Given the description of an element on the screen output the (x, y) to click on. 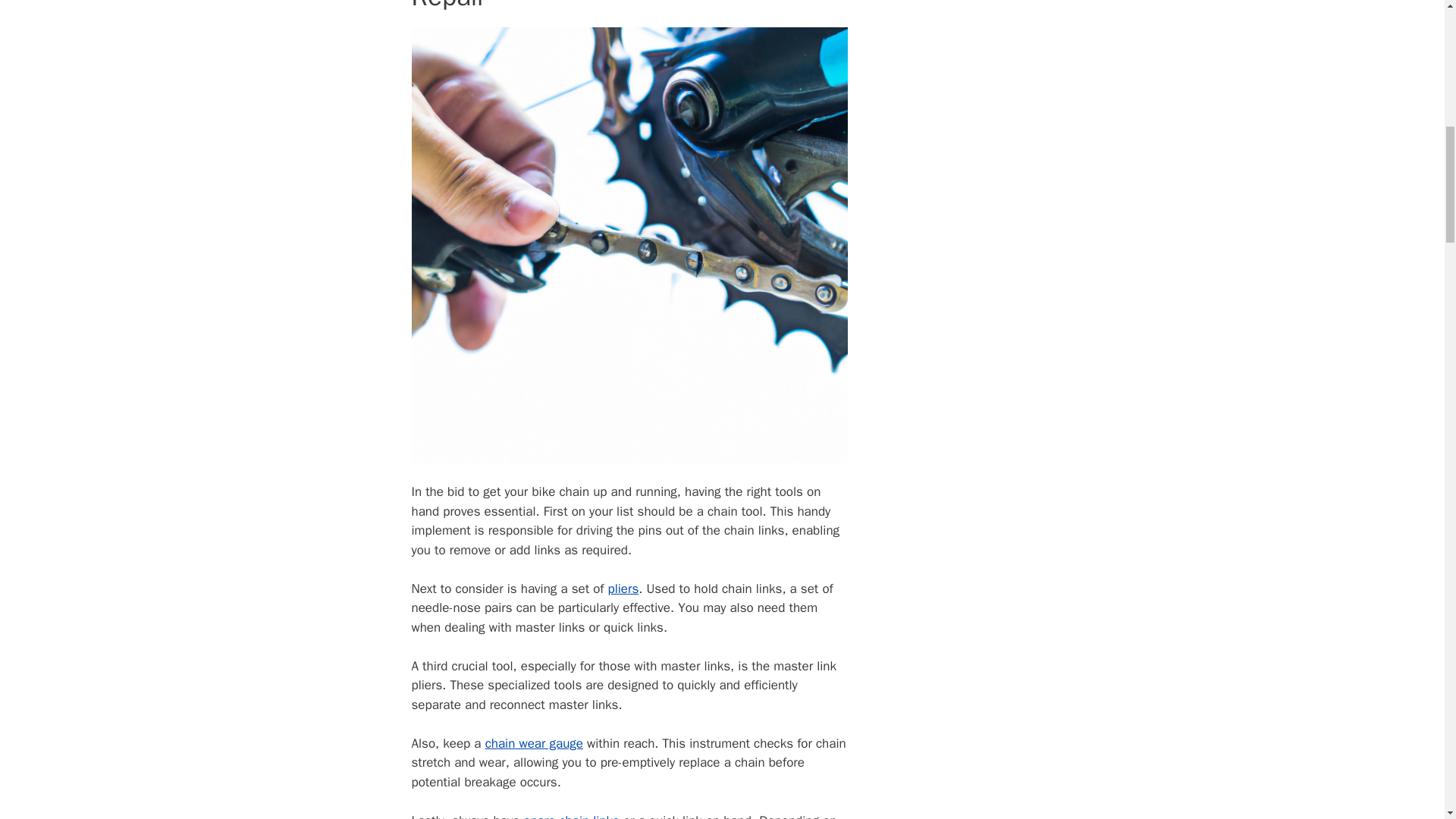
chain wear gauge (533, 743)
spare chain links (572, 816)
pliers (623, 588)
